Given the description of an element on the screen output the (x, y) to click on. 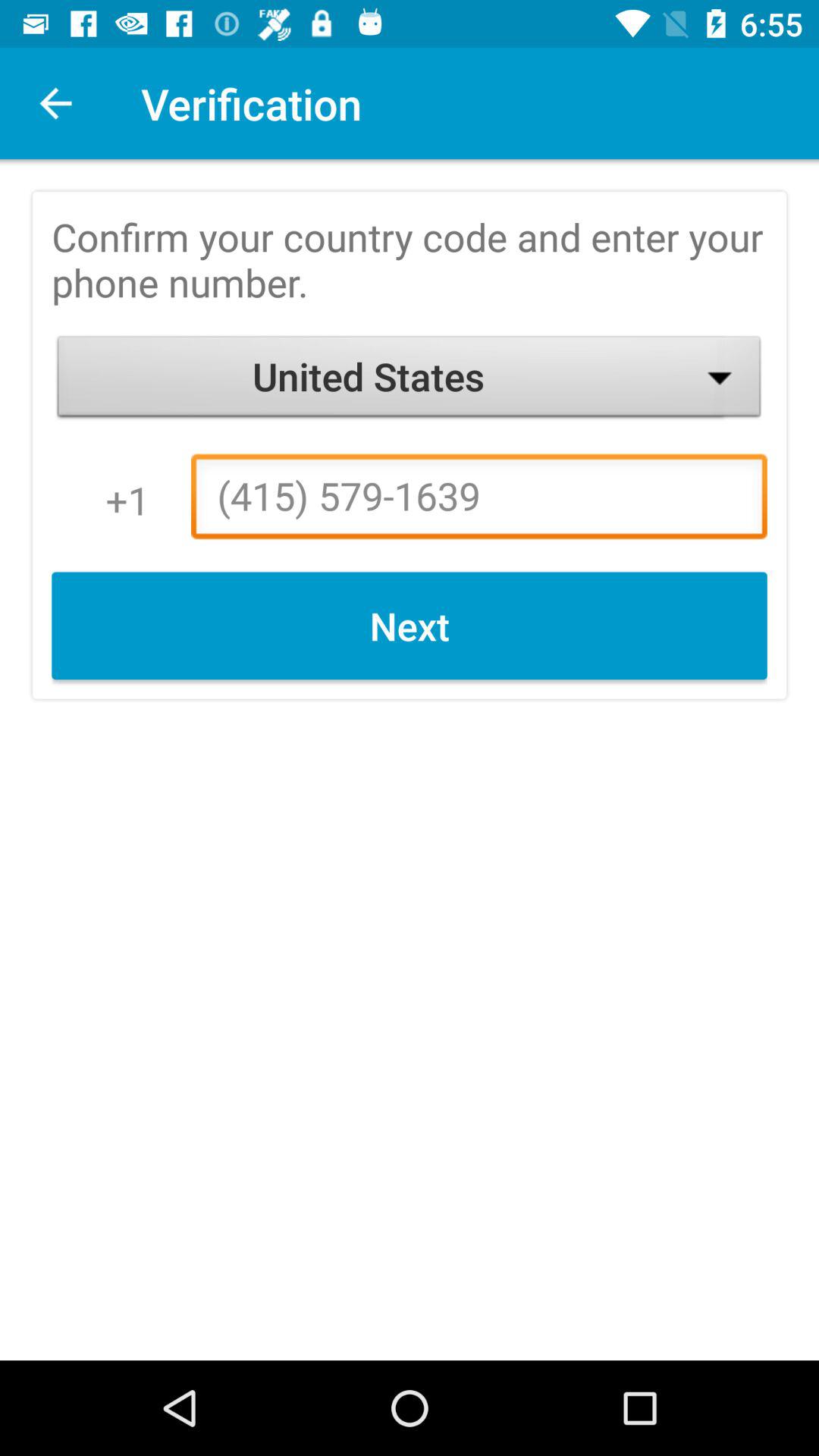
turn off the icon above next item (479, 500)
